Given the description of an element on the screen output the (x, y) to click on. 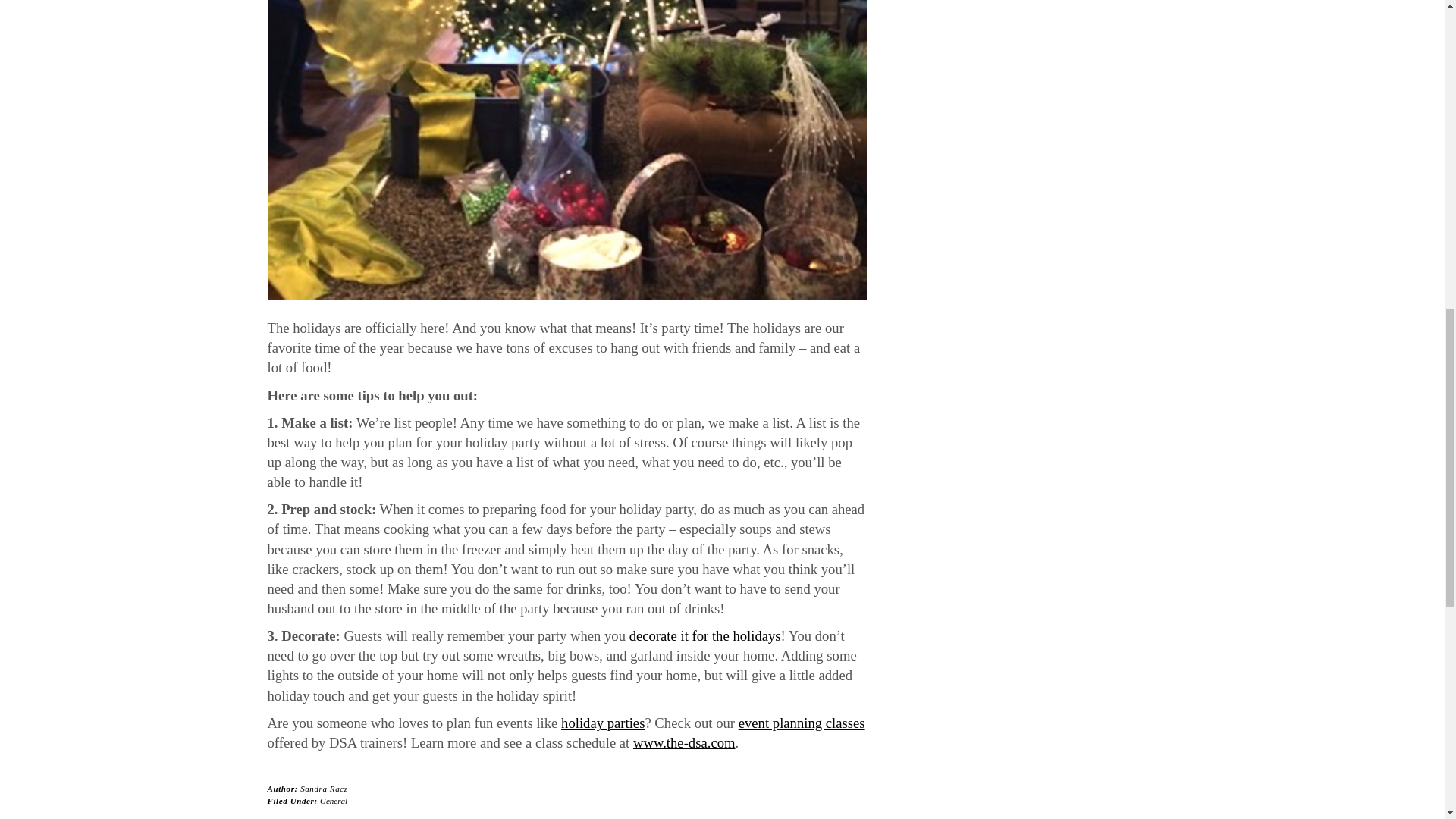
decorate it for the holidays (704, 635)
Posts by Sandra Racz (323, 788)
General (333, 800)
event planning classes (801, 722)
www.the-dsa.com (684, 742)
holiday parties (602, 722)
Sandra Racz (323, 788)
